Given the description of an element on the screen output the (x, y) to click on. 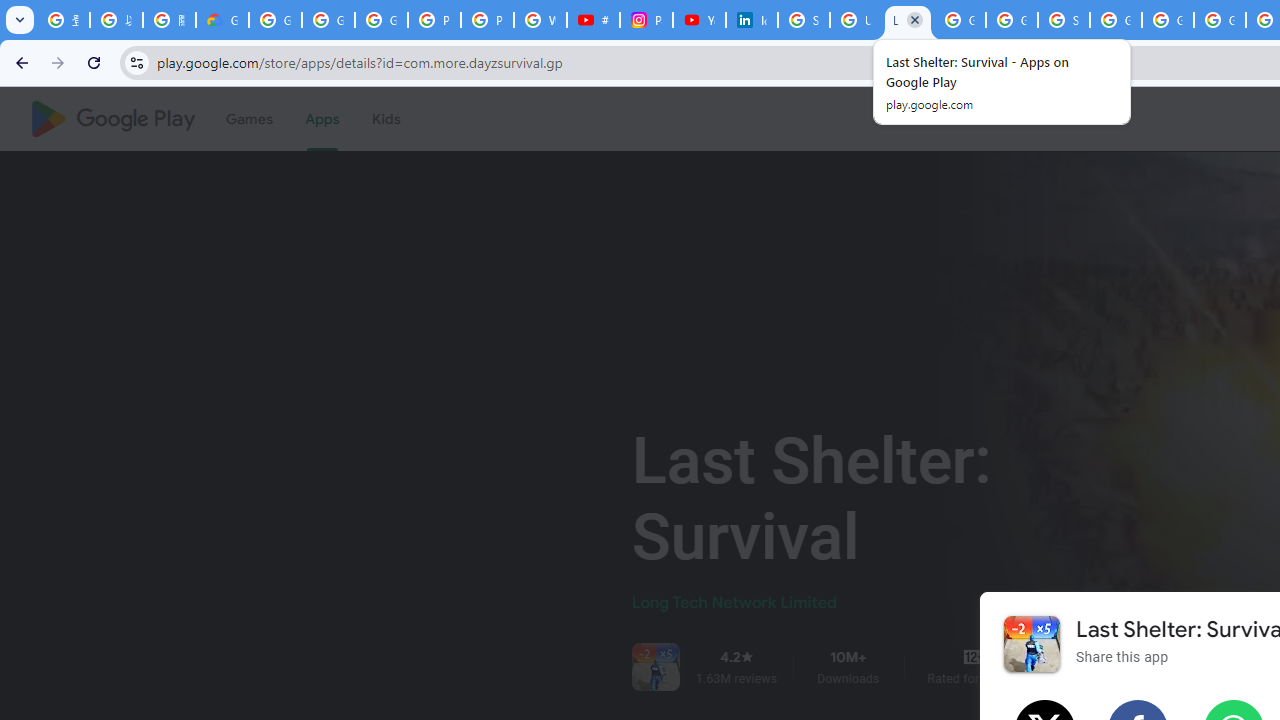
Google Cloud Platform (1167, 20)
Sign in - Google Accounts (1064, 20)
Last Shelter: Survival - Apps on Google Play (907, 20)
YouTube Culture & Trends - On The Rise: Handcam Videos (699, 20)
